Given the description of an element on the screen output the (x, y) to click on. 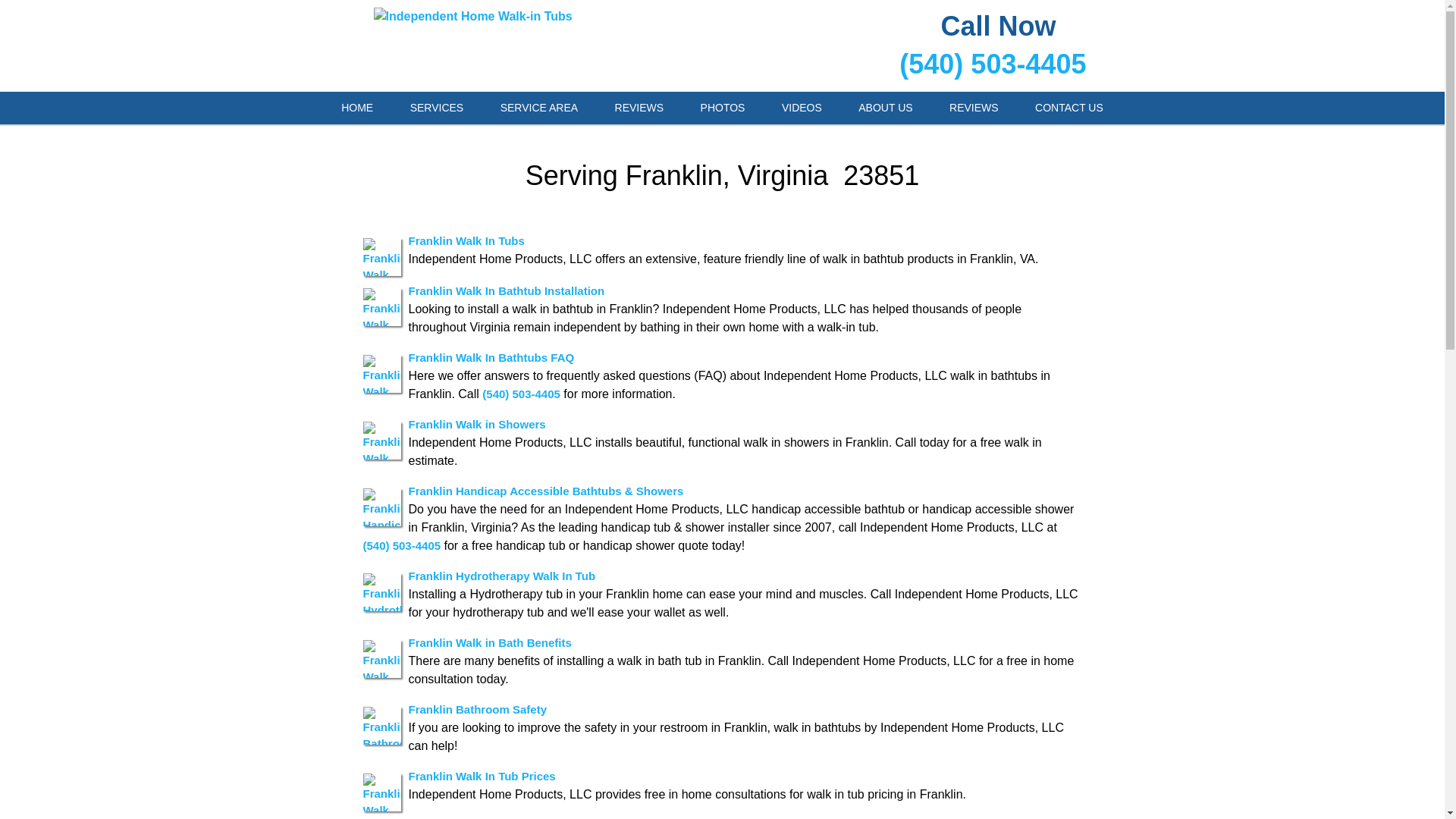
Franklin Hydrotherapy Walk In Tub (501, 574)
HOME (357, 107)
Franklin Walk In Tub Prices (480, 775)
Franklin Walk in Showers (475, 422)
ABOUT US (884, 107)
VIDEOS (801, 107)
Franklin Walk In Bathtub Installation (505, 289)
Franklin Walk In Tubs (465, 239)
SERVICES (436, 107)
CONTACT US (1068, 107)
SERVICE AREA (538, 107)
REVIEWS (639, 107)
Franklin Walk in Bath Benefits (488, 641)
REVIEWS (973, 107)
Franklin Walk In Bathtubs FAQ (490, 356)
